Given the description of an element on the screen output the (x, y) to click on. 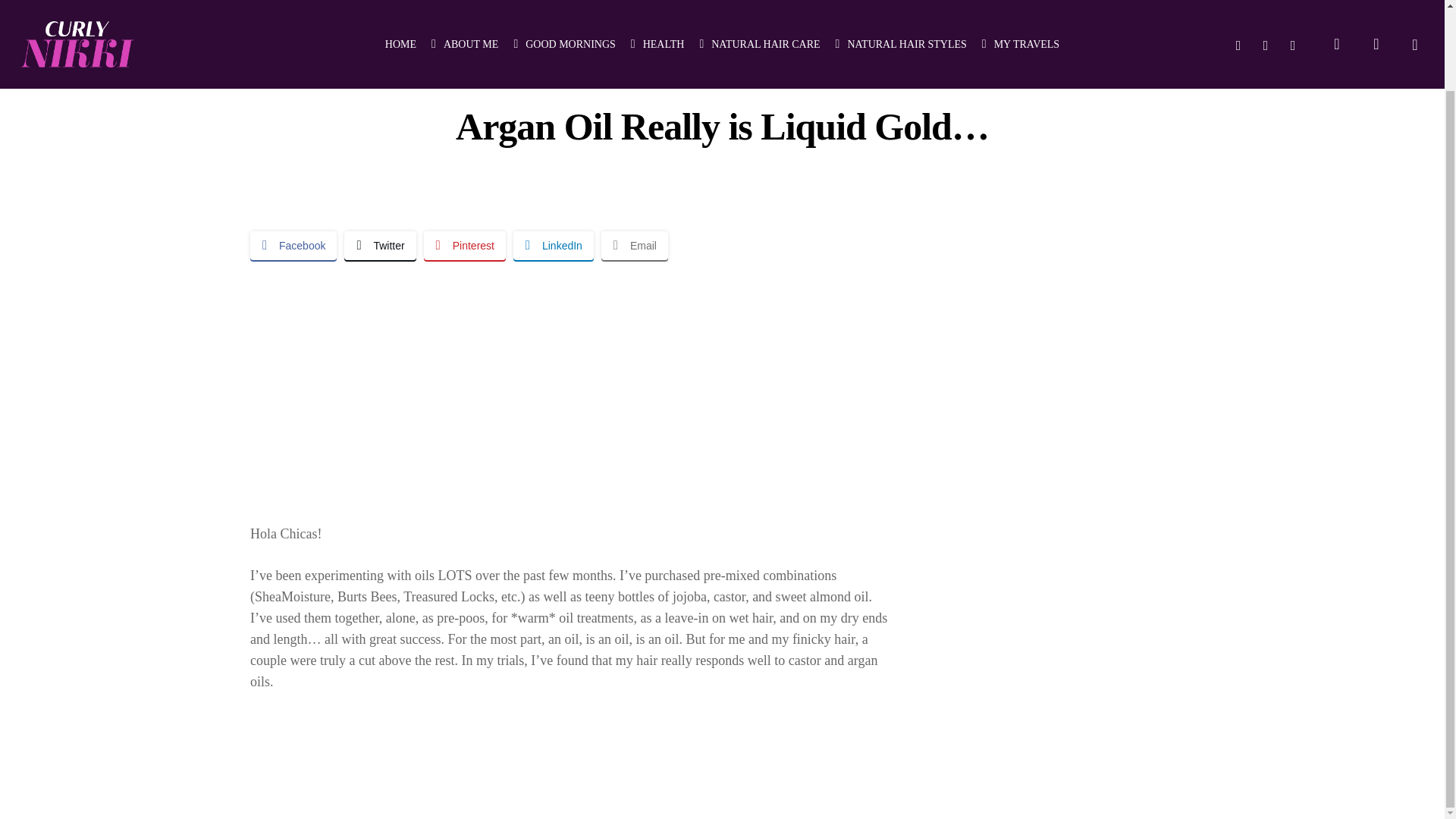
Argan Oil Really is Liquid Gold... (573, 381)
